Given the description of an element on the screen output the (x, y) to click on. 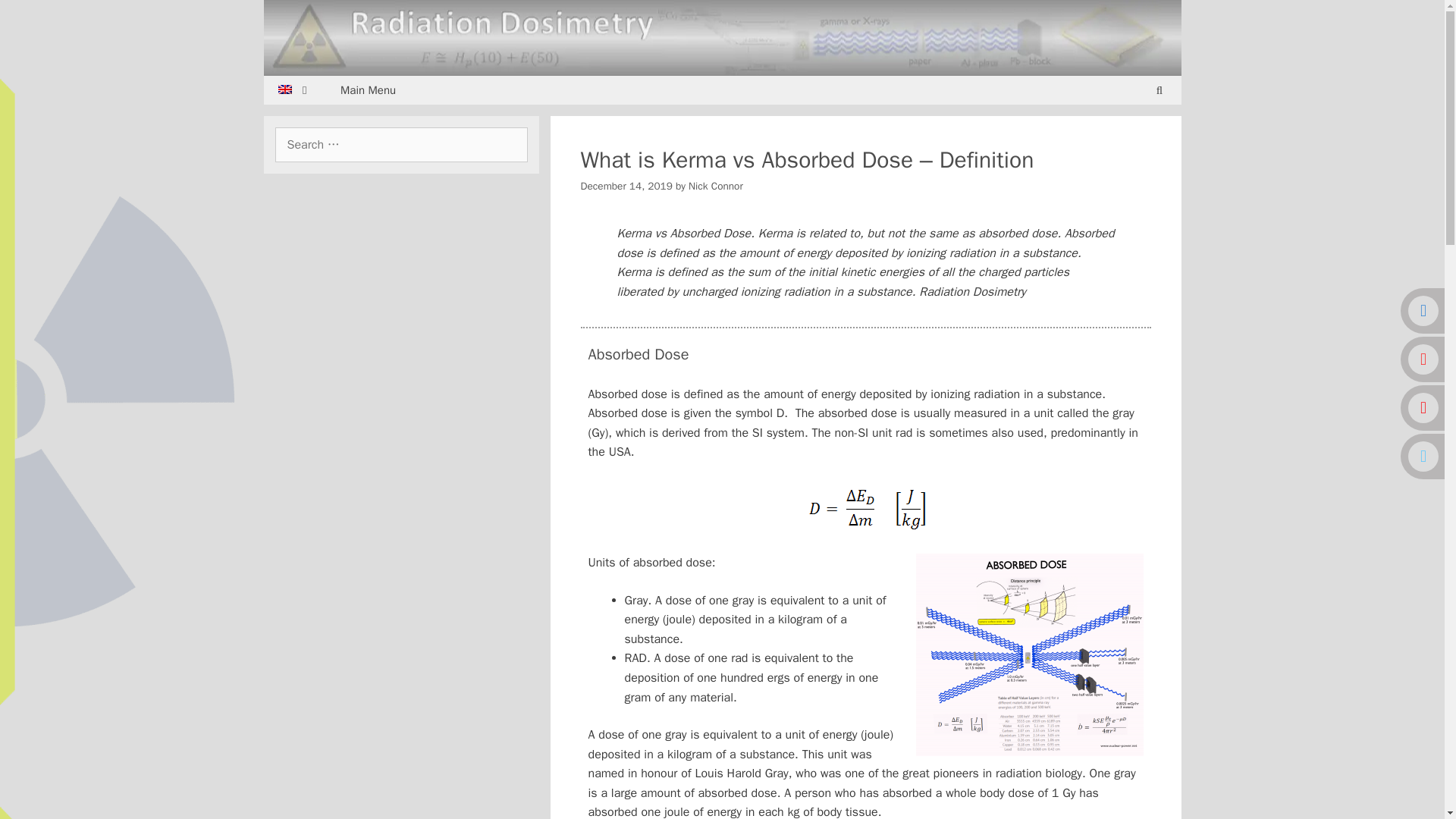
Nick Connor (715, 185)
View all posts by Nick Connor (715, 185)
Search for: (401, 144)
Main Menu (368, 90)
Search (34, 17)
